Given the description of an element on the screen output the (x, y) to click on. 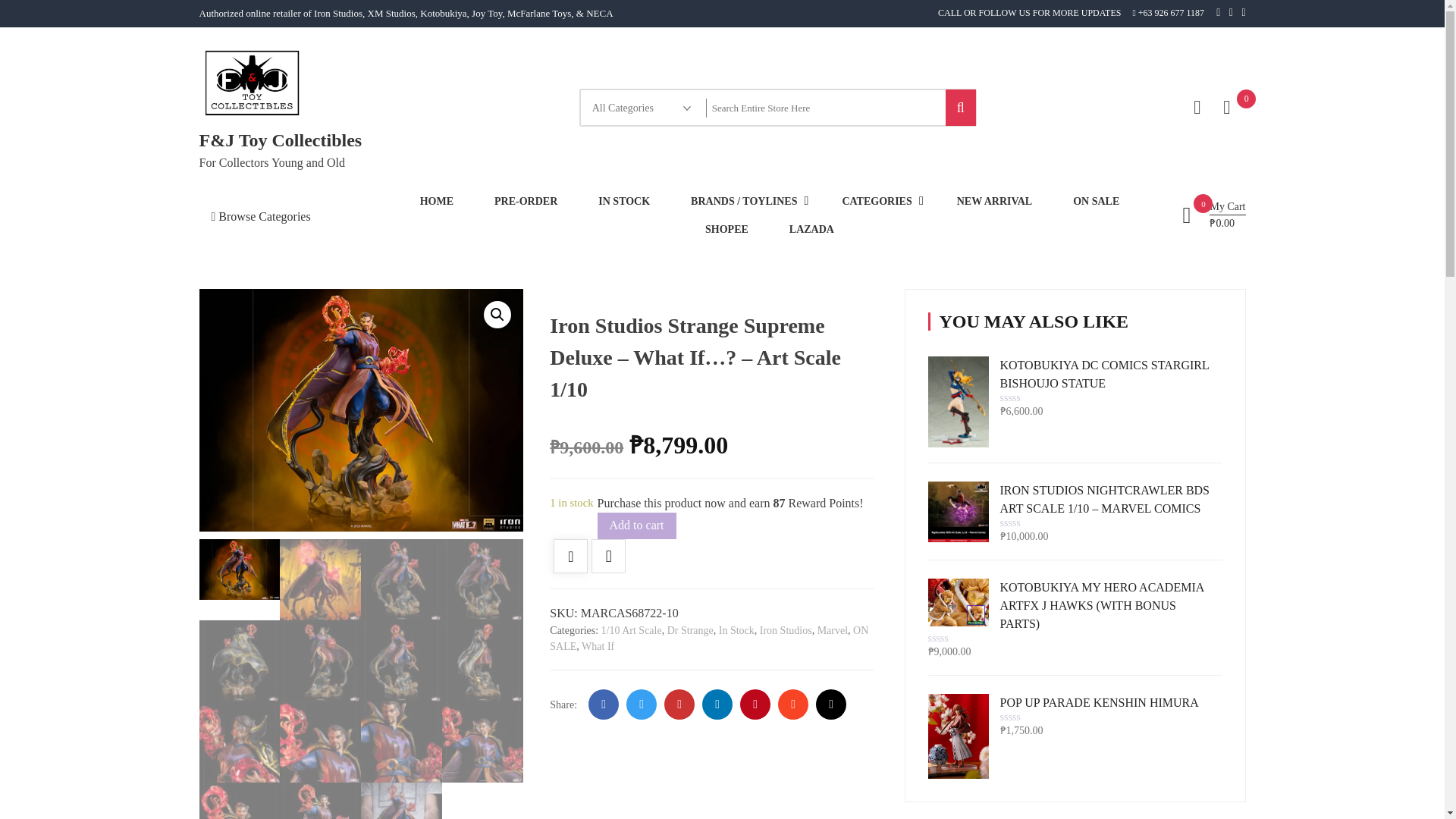
Color (360, 410)
